Given the description of an element on the screen output the (x, y) to click on. 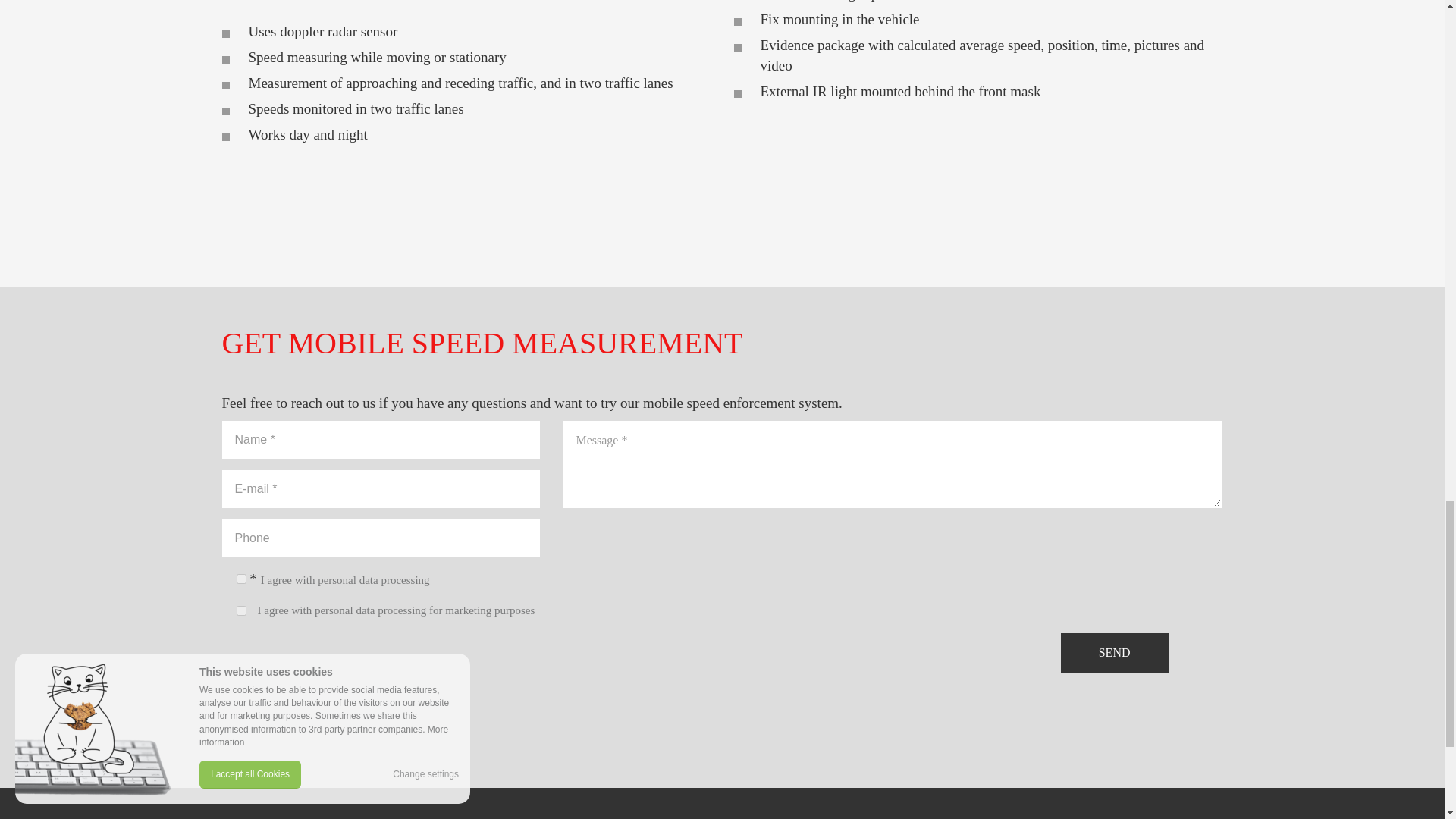
Send (1115, 653)
Send (1115, 653)
I agree with personal data processing for marketing purposes (396, 610)
Marketing Communication (240, 610)
I agree with personal data processing (344, 580)
